Given the description of an element on the screen output the (x, y) to click on. 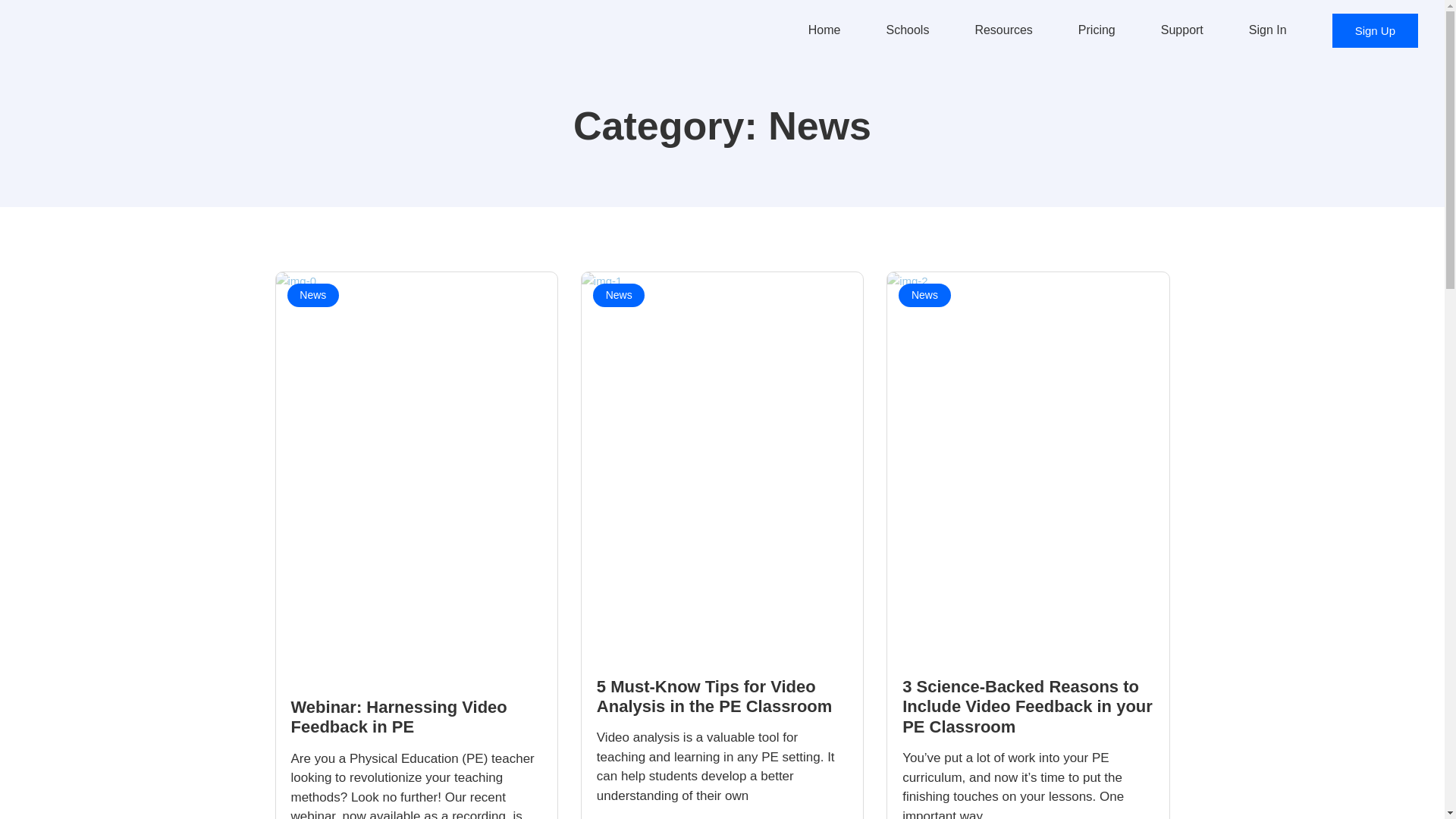
Support (1189, 30)
Pricing (1103, 30)
Sign In (1275, 30)
Schools (914, 30)
Webinar: Harnessing Video Feedback in PE (398, 716)
5 Must-Know Tips for Video Analysis in the PE Classroom (714, 696)
Home (831, 30)
Resources (1010, 30)
Sign Up (1375, 30)
